Given the description of an element on the screen output the (x, y) to click on. 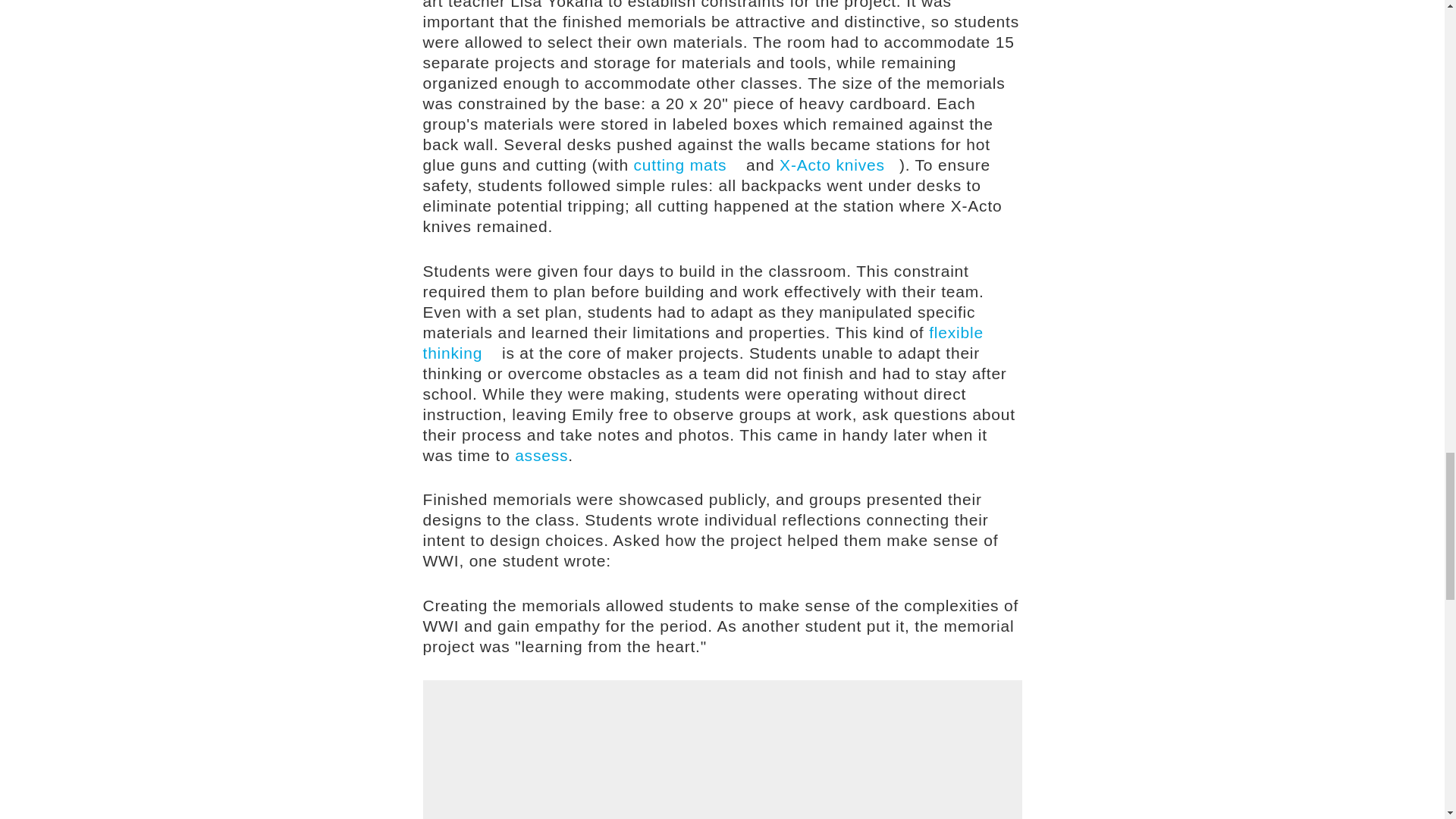
cutting mats (687, 164)
X-Acto knives (838, 164)
flexible thinking (703, 341)
assess (541, 454)
